Given the description of an element on the screen output the (x, y) to click on. 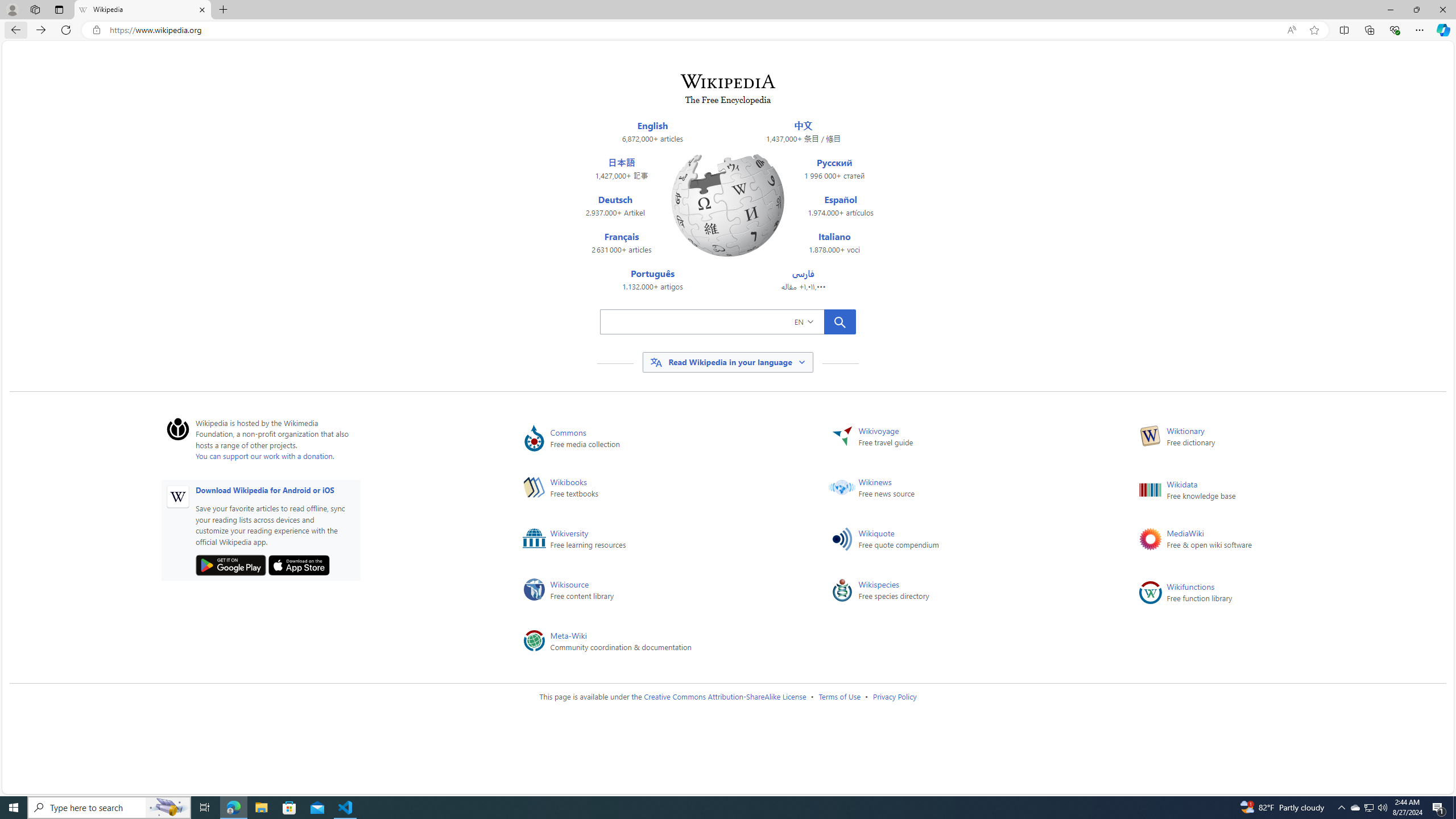
Wikidata Free knowledge base (1274, 489)
Deutsch 2.937.000+ Artikel (614, 205)
Italiano 1.878.000+ voci (834, 243)
English 6,872,000+ articles (652, 131)
Apple App Store (298, 565)
Commons Free media collection (658, 438)
